Given the description of an element on the screen output the (x, y) to click on. 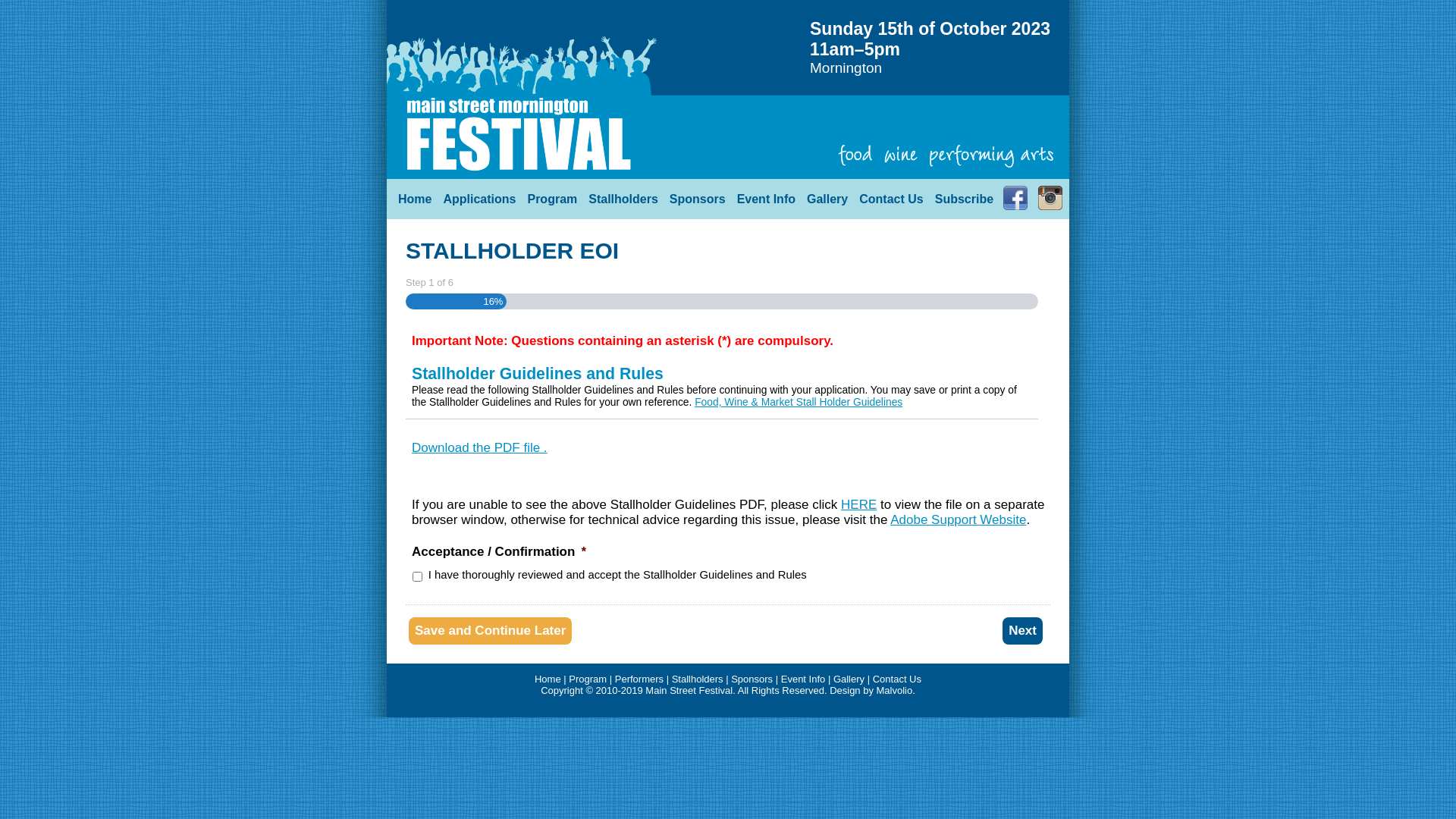
Gallery Element type: text (848, 678)
Home Element type: text (408, 198)
Event Info Element type: text (760, 198)
HERE Element type: text (858, 504)
Gallery Element type: text (821, 198)
Stallholders Element type: text (697, 678)
Event Info Element type: text (803, 678)
Home Element type: text (547, 678)
Program Element type: text (587, 678)
Contact Us Element type: text (896, 678)
Stallholders Element type: text (617, 198)
Performers Element type: text (639, 678)
Design by Malvolio Element type: text (870, 690)
Sponsors Element type: text (751, 678)
Program Element type: text (546, 198)
Save and Continue Later Element type: text (489, 630)
Sponsors Element type: text (691, 198)
Contact Us Element type: text (884, 198)
Food, Wine & Market Stall Holder Guidelines Element type: text (798, 401)
Subscribe Element type: text (958, 198)
Download the PDF file . Element type: text (479, 447)
Adobe Support Website Element type: text (958, 519)
Next Element type: text (1022, 630)
Applications Element type: text (473, 198)
